Given the description of an element on the screen output the (x, y) to click on. 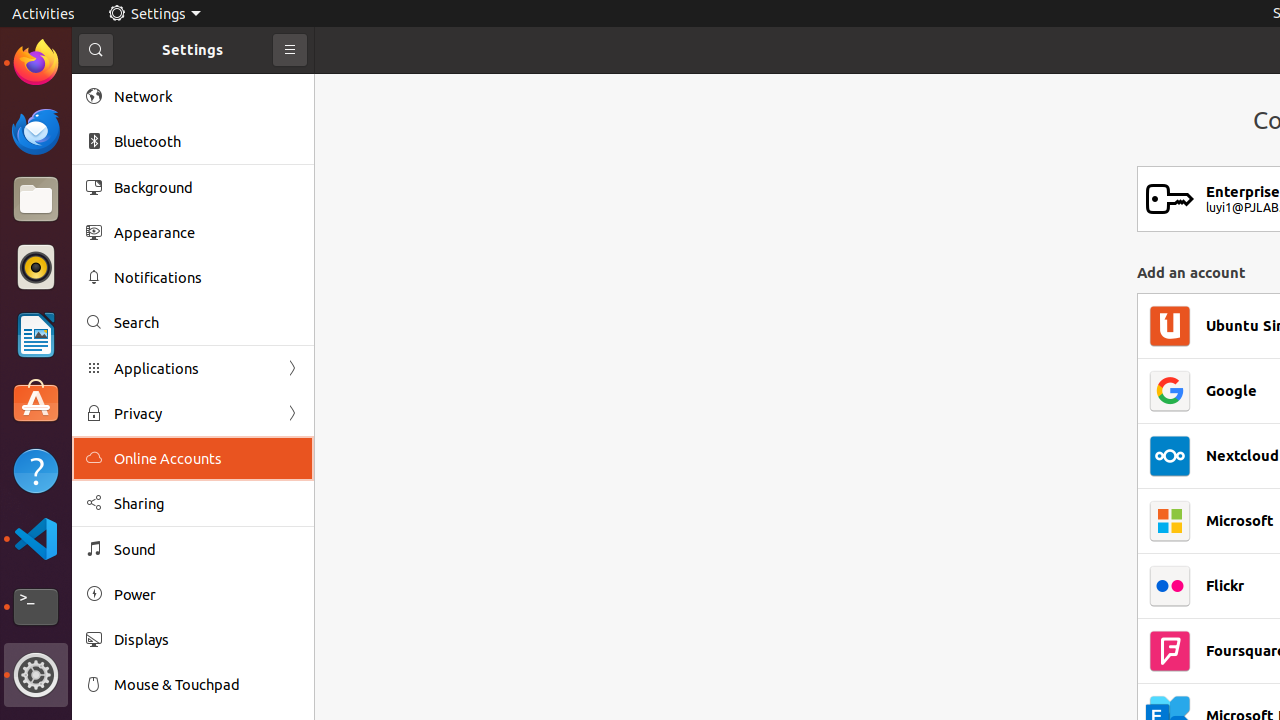
Microsoft Element type: label (1240, 521)
Bluetooth Element type: label (207, 141)
Primary Menu Element type: toggle-button (290, 50)
Terminal Element type: push-button (36, 607)
